Given the description of an element on the screen output the (x, y) to click on. 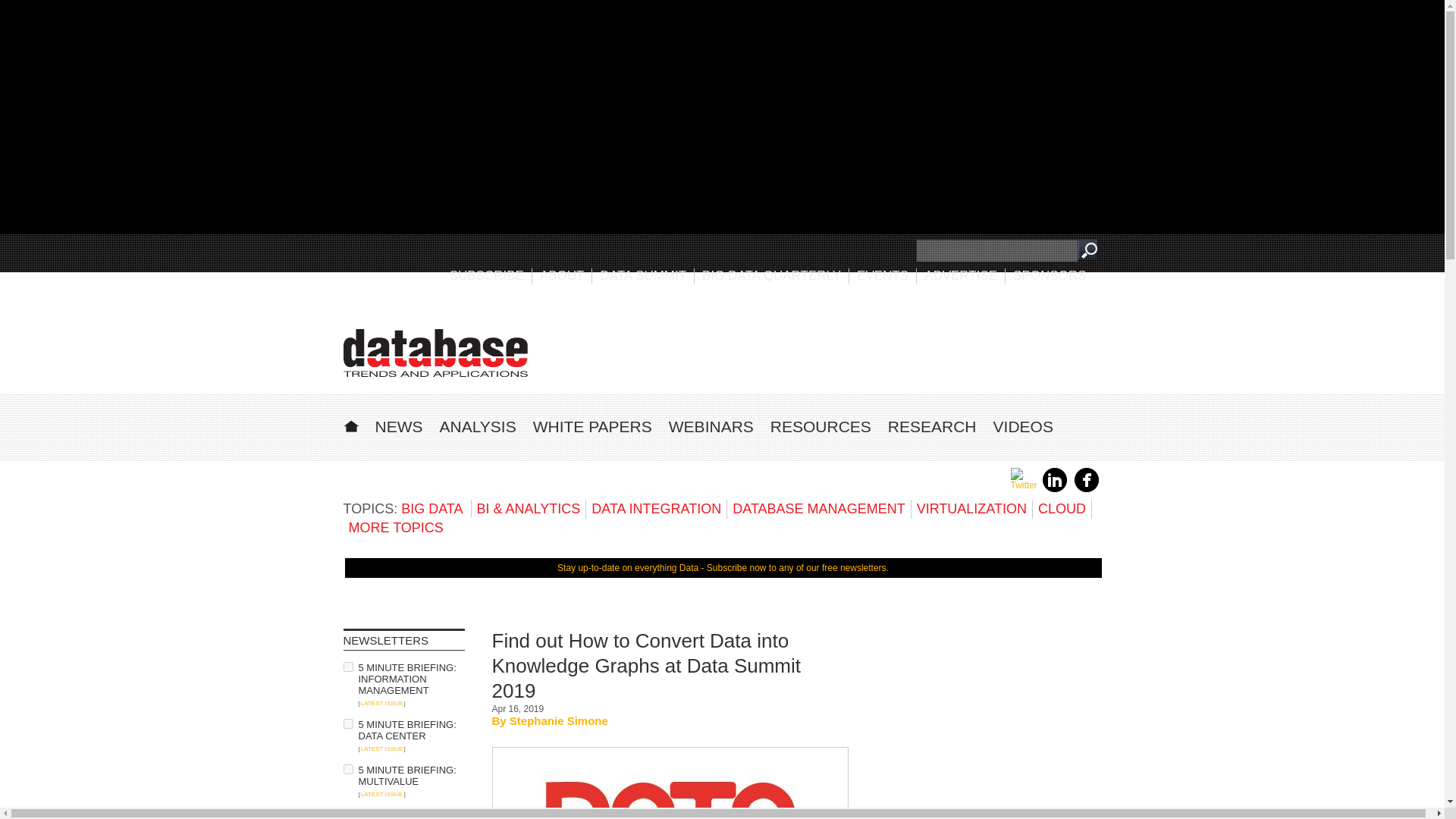
RESOURCES (820, 425)
ABOUT (562, 275)
on (347, 768)
DBTA on Twitter (1023, 484)
RESEARCH (932, 425)
Database Trends and Applications Home (350, 424)
WHITE PAPERS (592, 425)
SUBSCRIBE (486, 275)
ANALYSIS (477, 425)
on (347, 723)
